Given the description of an element on the screen output the (x, y) to click on. 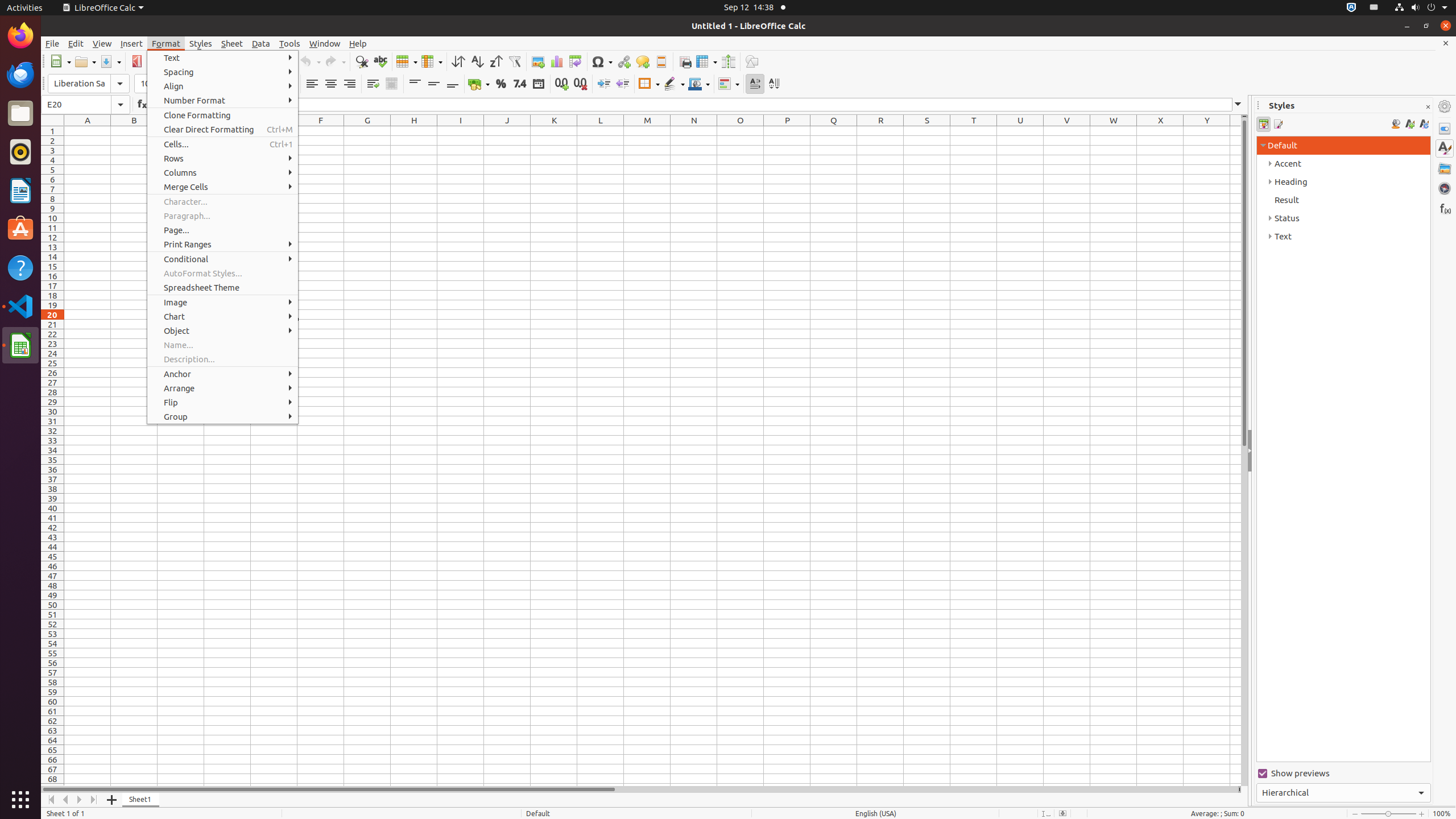
Navigator Element type: radio-button (1444, 188)
Group Element type: menu (222, 416)
Center Vertically Element type: push-button (433, 83)
Hyperlink Element type: toggle-button (623, 61)
Percent Element type: push-button (500, 83)
